Given the description of an element on the screen output the (x, y) to click on. 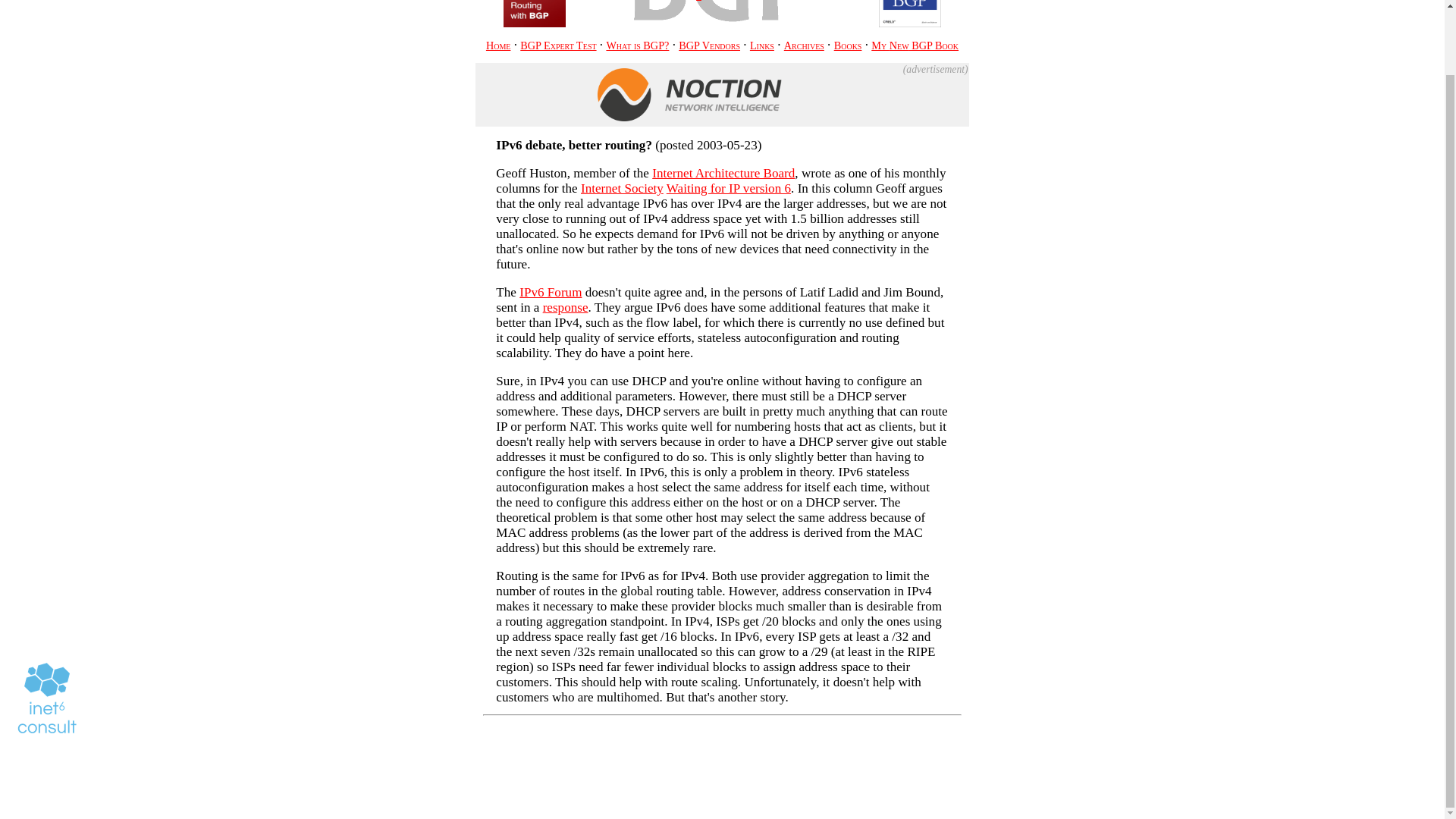
response (565, 307)
Archives (804, 45)
What is BGP? (636, 45)
My BGP book from 2002: 'BGP' by Iljitsch van Beijnum (910, 13)
BGP (688, 94)
IPv6 Forum (549, 292)
Waiting for IP version 6 (728, 187)
Internet Society (621, 187)
BGP Expert Test (557, 45)
BGP Vendors (708, 45)
Links (761, 45)
Home (498, 45)
Books (847, 45)
Internet Architecture Board (723, 173)
